Given the description of an element on the screen output the (x, y) to click on. 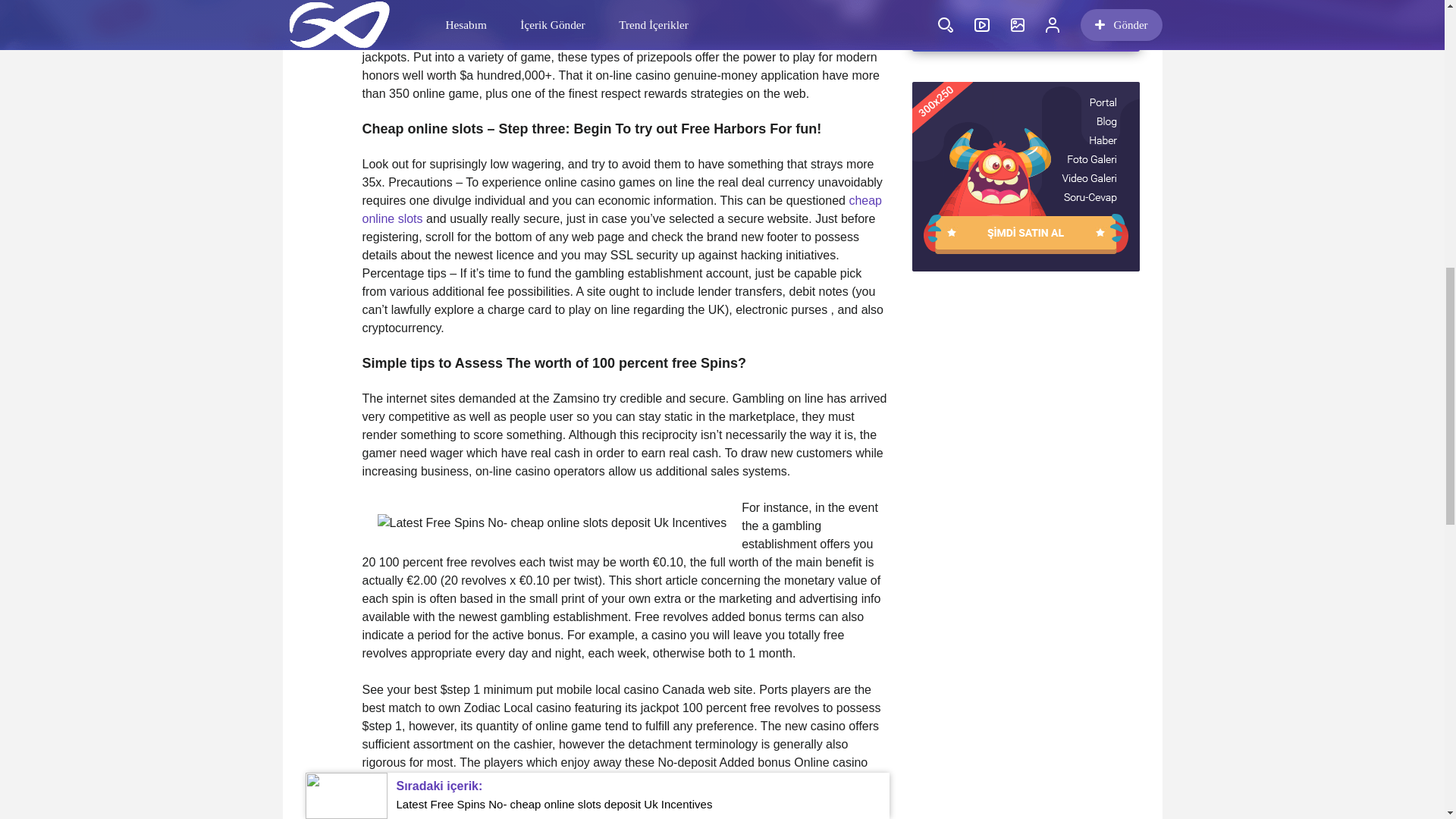
cheap online slots (622, 209)
